Given the description of an element on the screen output the (x, y) to click on. 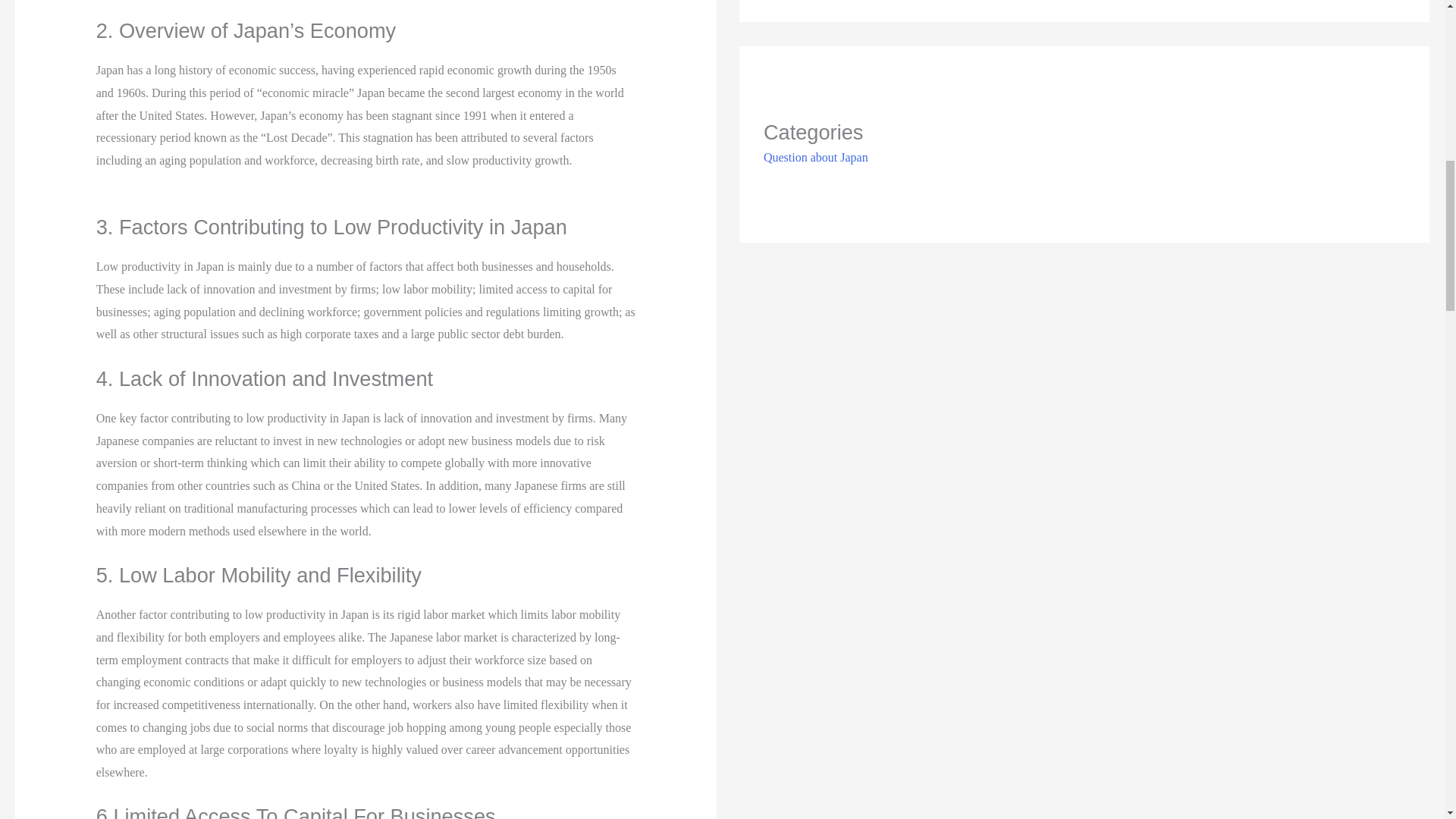
Question about Japan (814, 156)
